Given the description of an element on the screen output the (x, y) to click on. 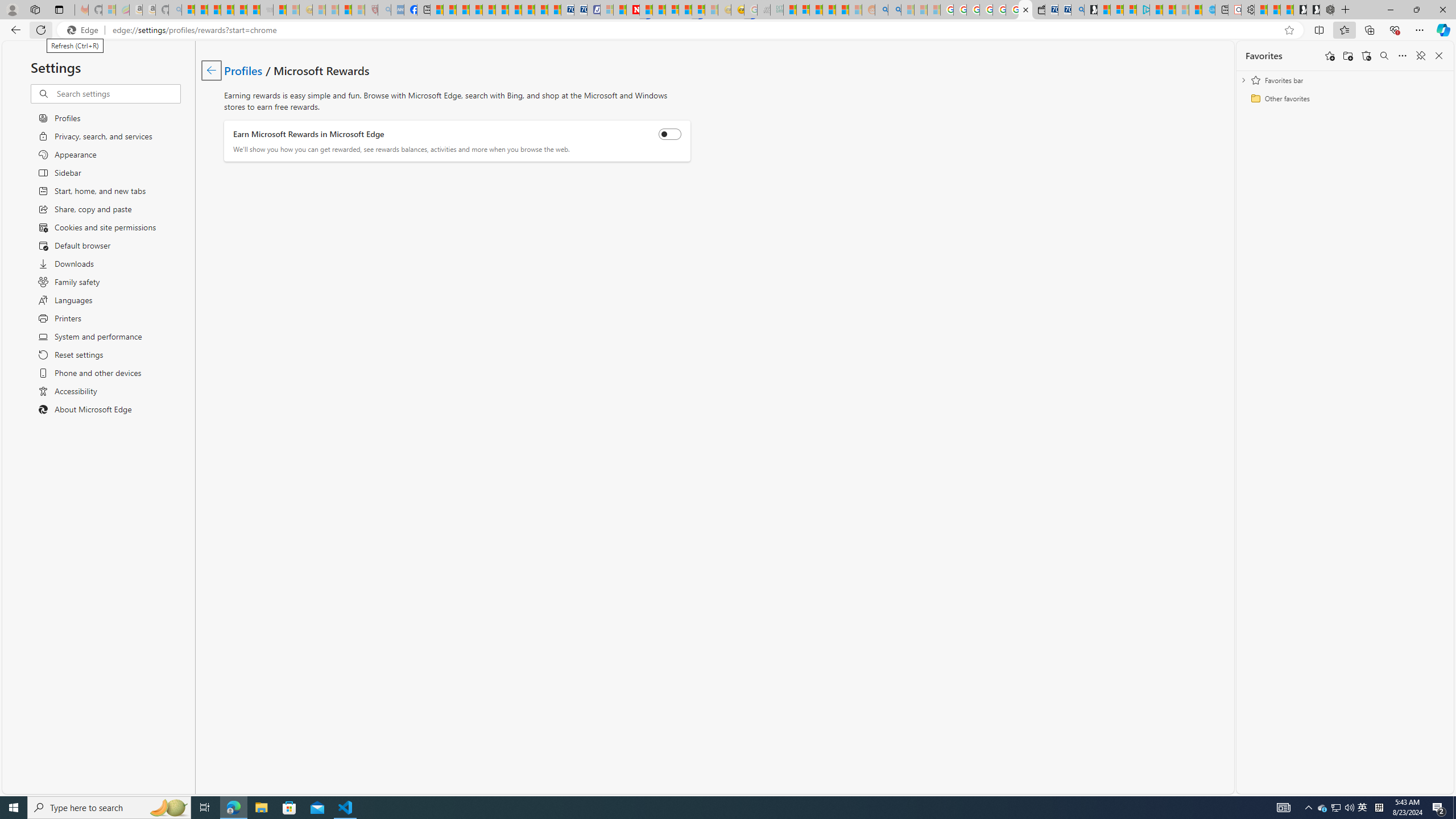
Bing Real Estate - Home sales and rental listings (1077, 9)
Wallet (1037, 9)
Add folder (1347, 55)
Utah sues federal government - Search (894, 9)
Unpin favorites (1420, 55)
